Given the description of an element on the screen output the (x, y) to click on. 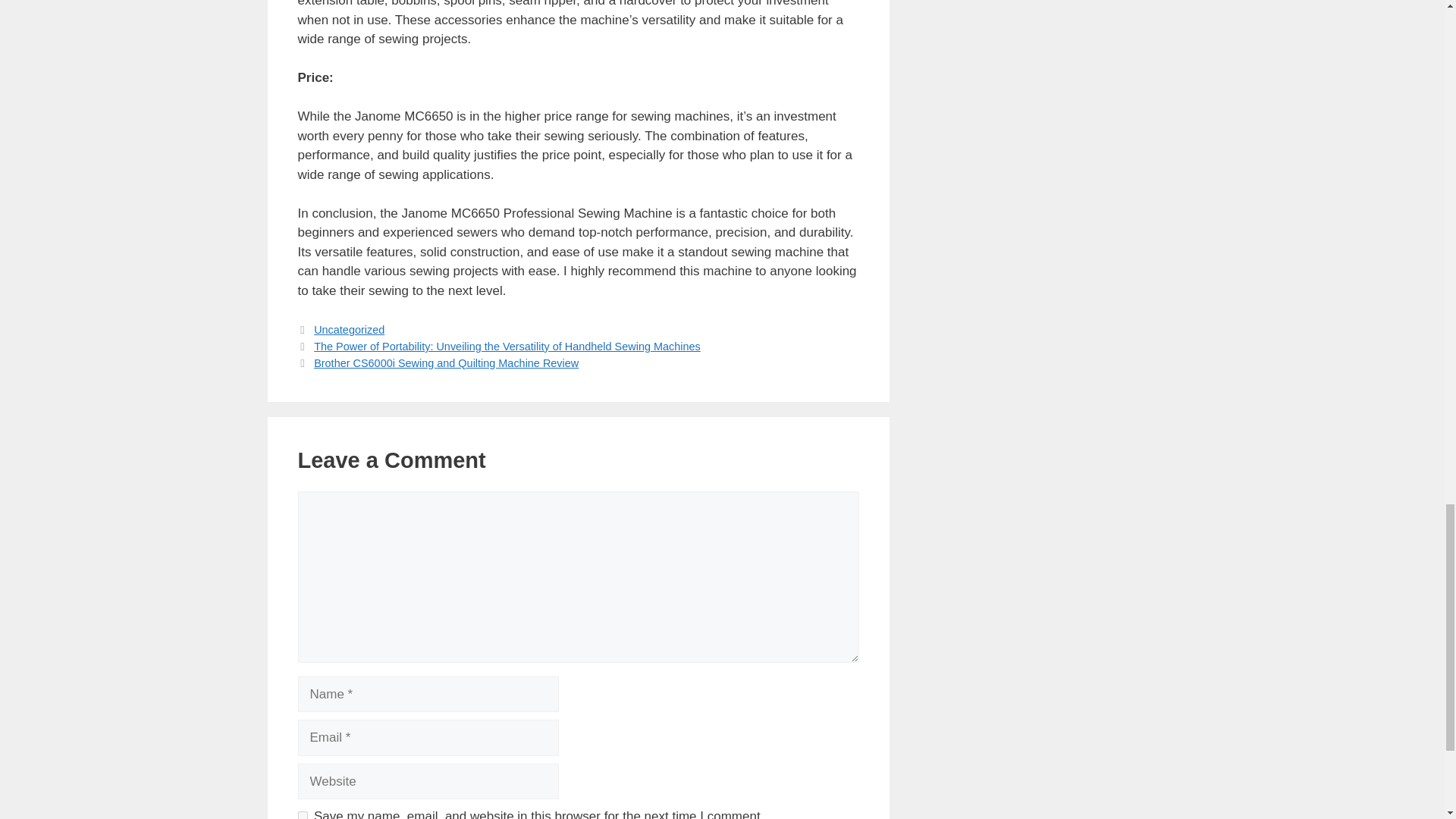
Brother CS6000i Sewing and Quilting Machine Review (446, 363)
yes (302, 815)
Uncategorized (349, 329)
